Given the description of an element on the screen output the (x, y) to click on. 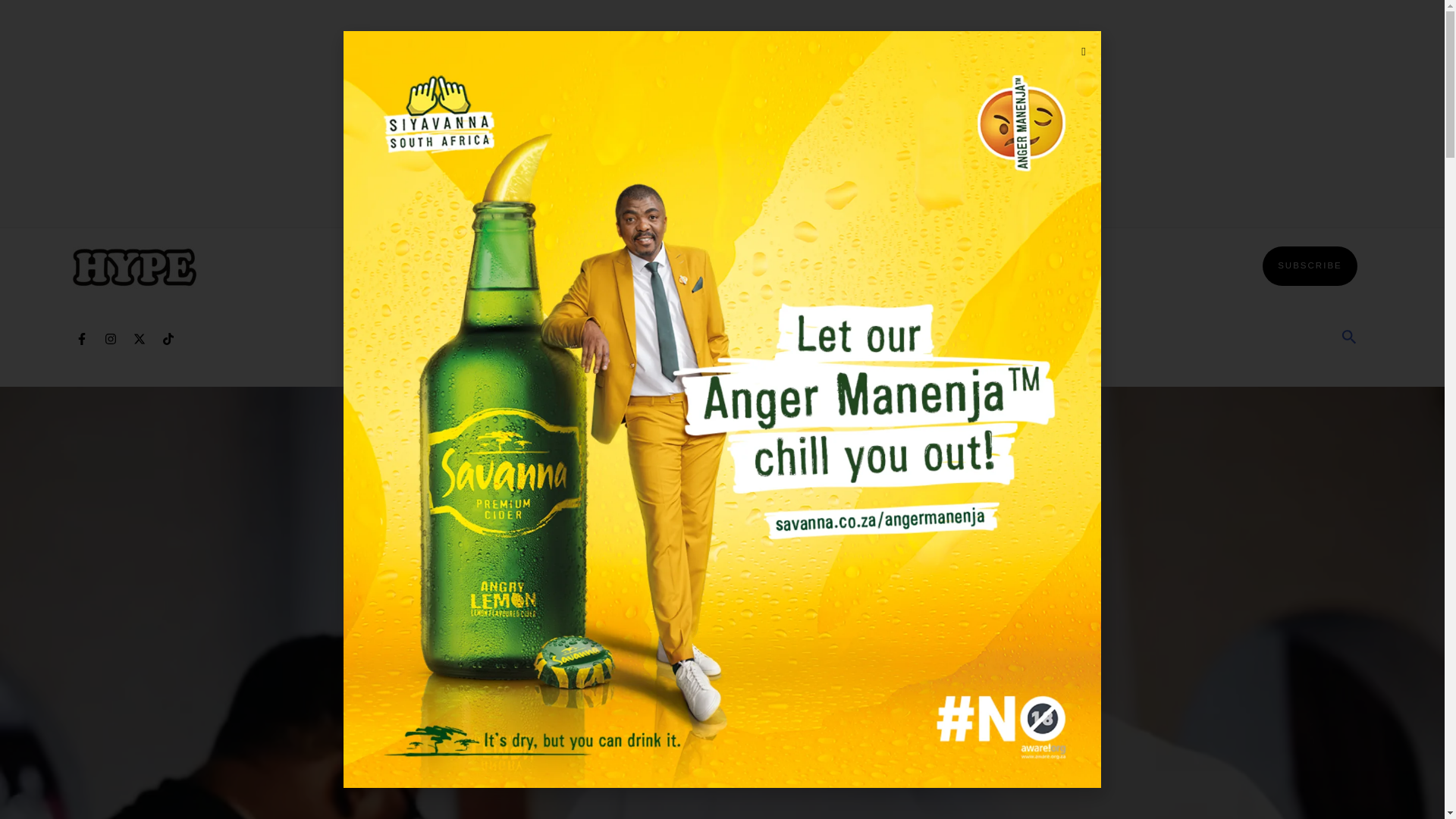
SUBSCRIBE (1309, 265)
INTERVIEWS (463, 265)
Search (1348, 338)
REVIEWS (565, 265)
COVER STORIES (785, 265)
HYPE PLAY (1025, 265)
HYPE MUSIC (914, 265)
FEATURES (662, 265)
HOME (370, 265)
3rd party ad content (721, 337)
